Given the description of an element on the screen output the (x, y) to click on. 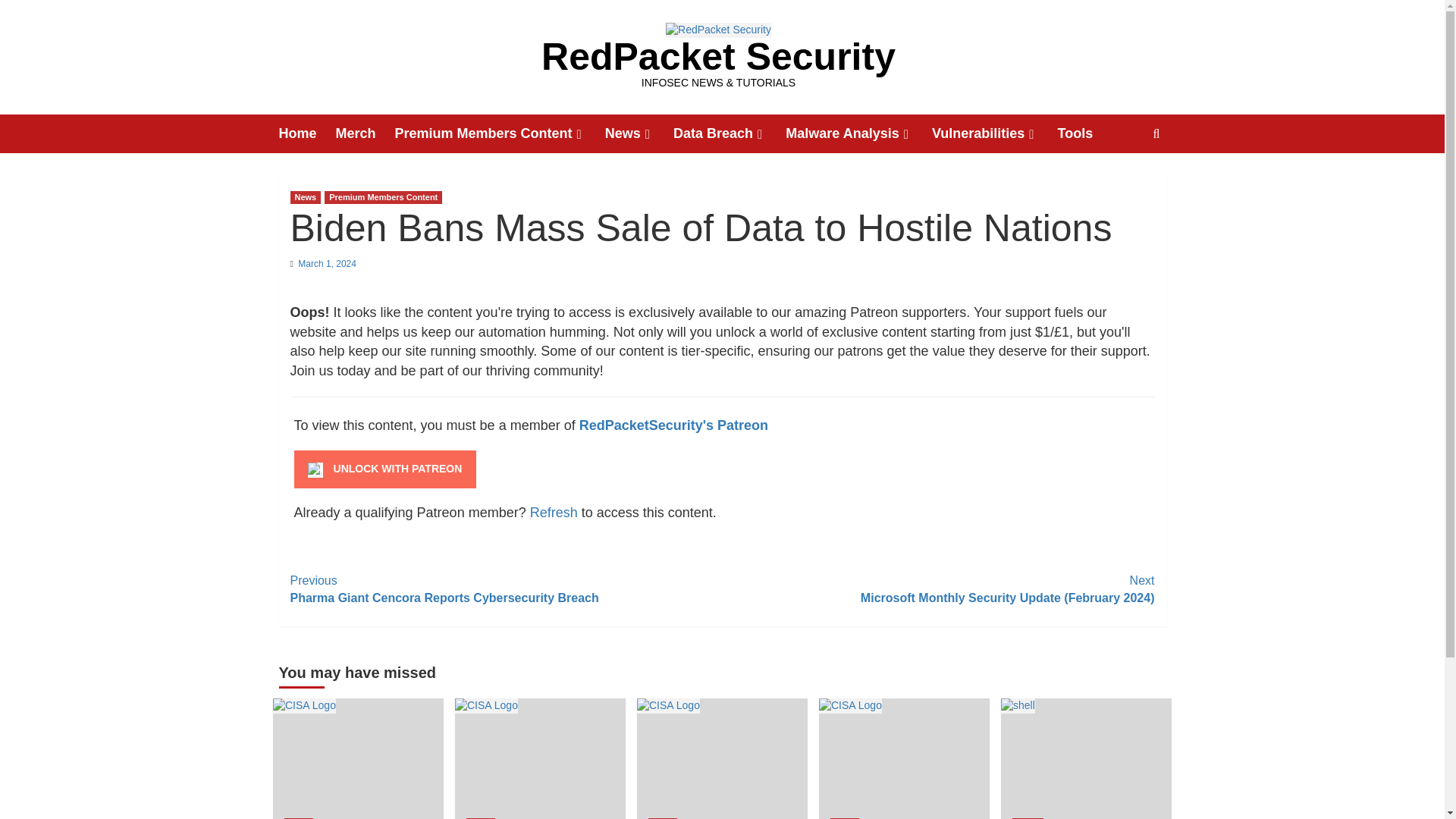
News (638, 133)
Premium Members Content (499, 133)
Premium Members Content (383, 196)
Tools (1085, 133)
Malware Analysis (858, 133)
Home (307, 133)
RedPacket Security (718, 56)
Search (1120, 180)
Merch (365, 133)
Data Breach (729, 133)
Vulnerabilities (994, 133)
